Given the description of an element on the screen output the (x, y) to click on. 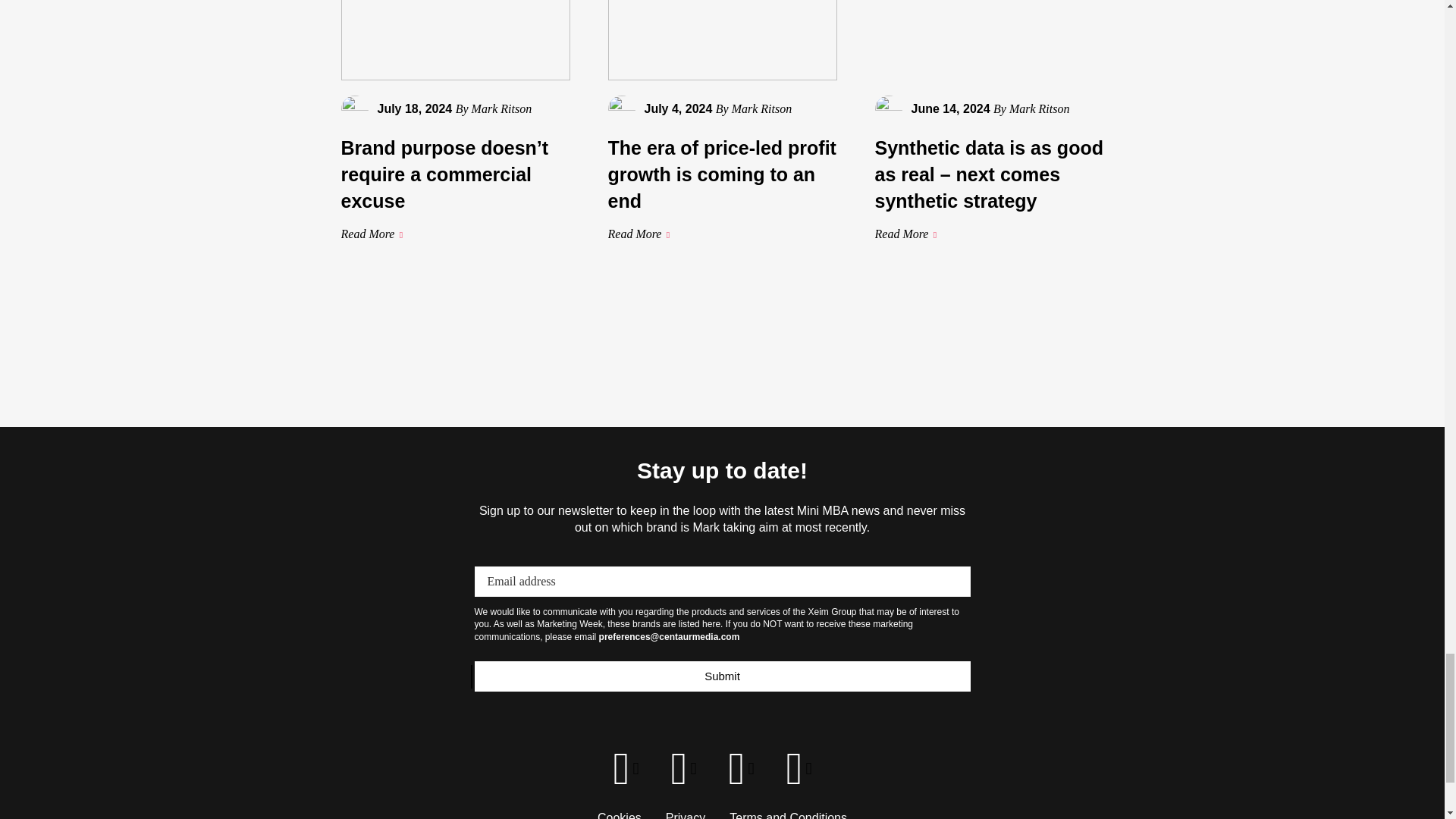
Posts by Mark Ritson (762, 108)
Posts by Mark Ritson (1039, 108)
Posts by Mark Ritson (501, 108)
Submit (722, 675)
